Given the description of an element on the screen output the (x, y) to click on. 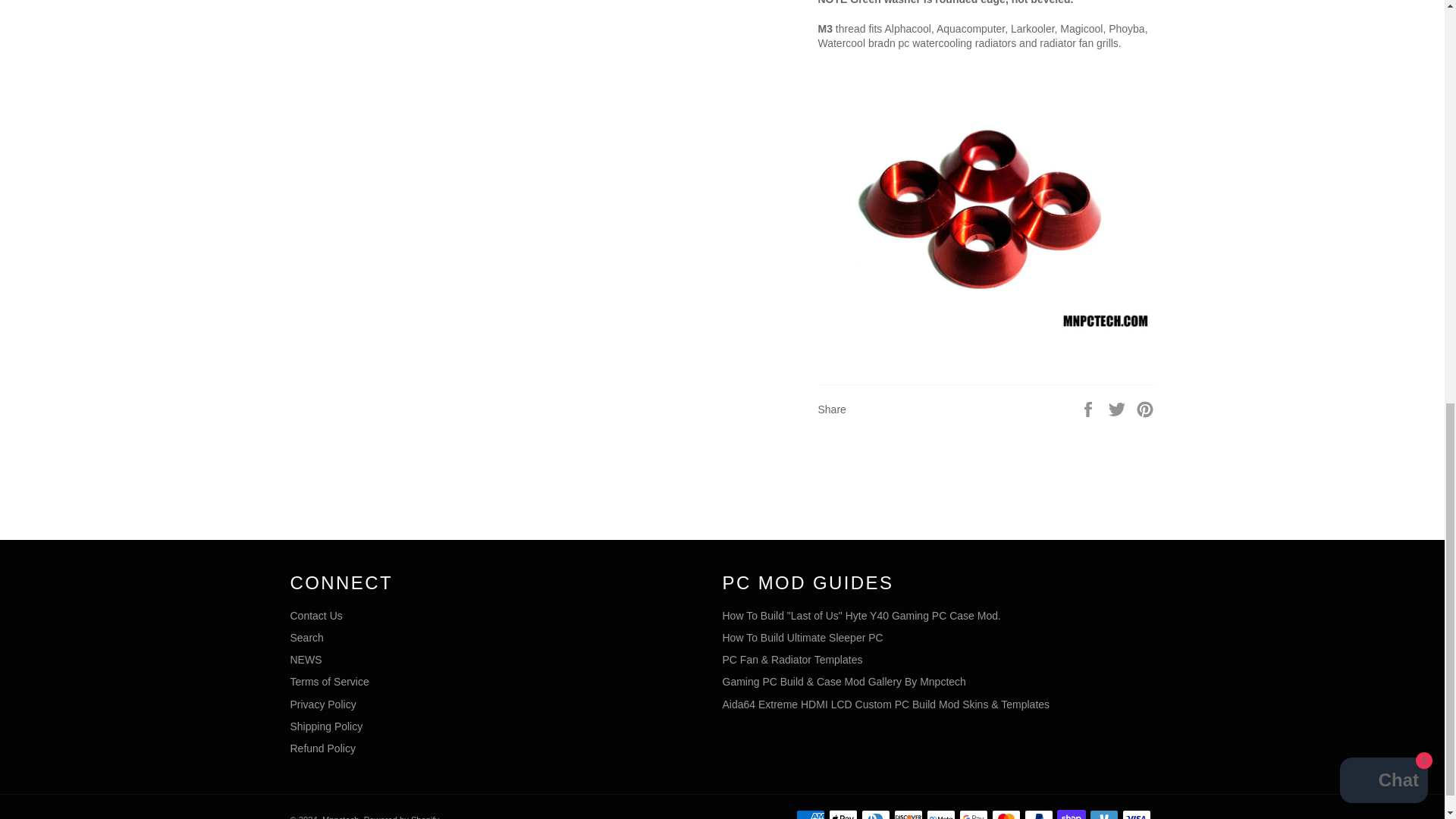
Tweet on Twitter (1118, 408)
Pin on Pinterest (1144, 408)
Share on Facebook (1089, 408)
